Given the description of an element on the screen output the (x, y) to click on. 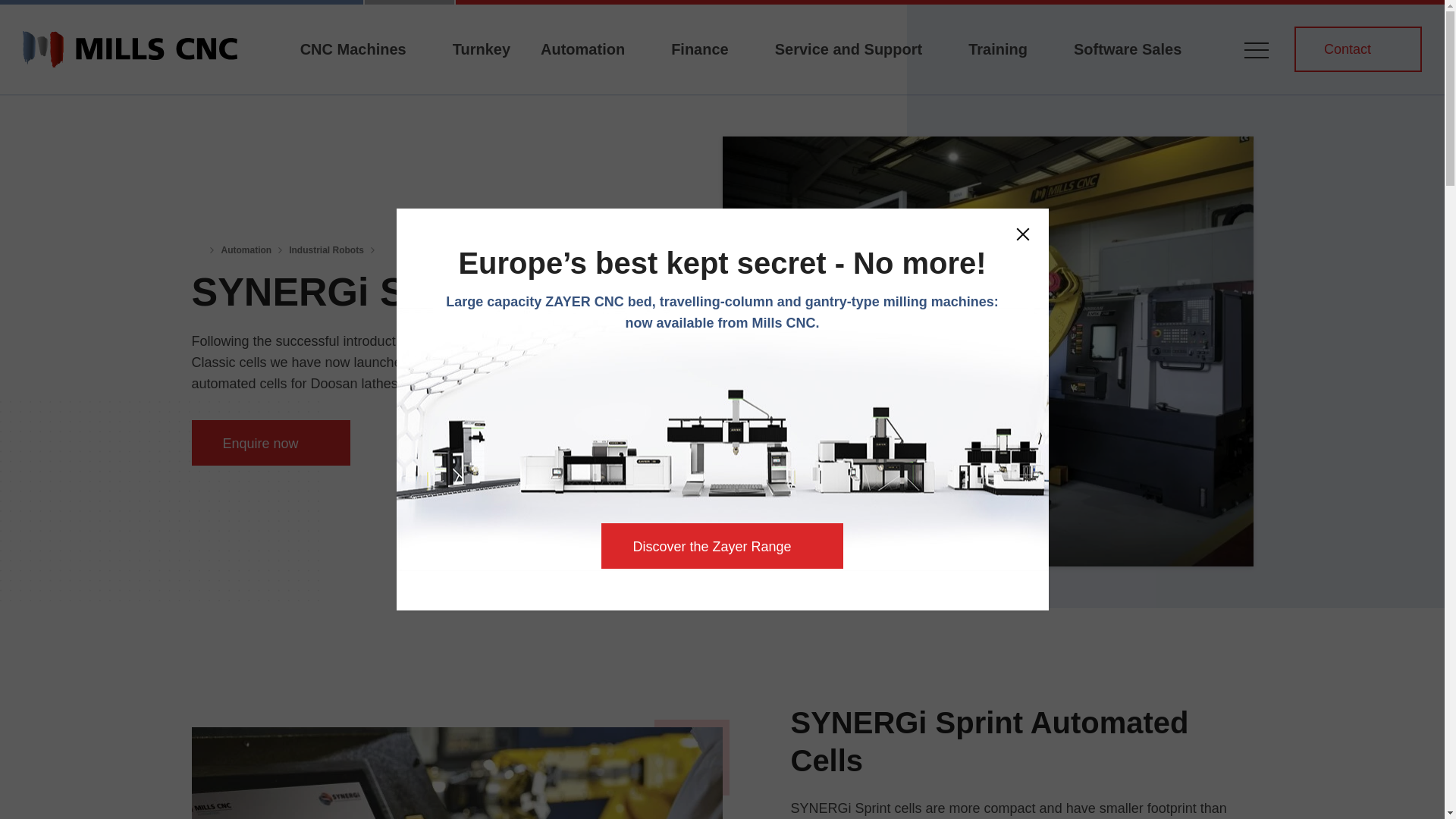
Finance (700, 65)
CNC Machines (352, 65)
Close (1022, 234)
Automation (582, 65)
Turnkey (481, 65)
Service and Support (848, 65)
